Given the description of an element on the screen output the (x, y) to click on. 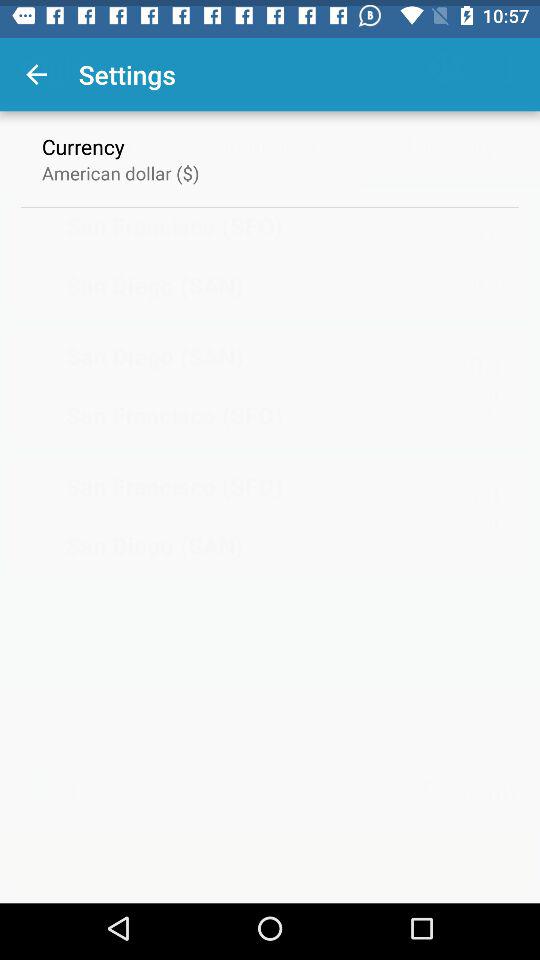
select the currency item (83, 139)
